Given the description of an element on the screen output the (x, y) to click on. 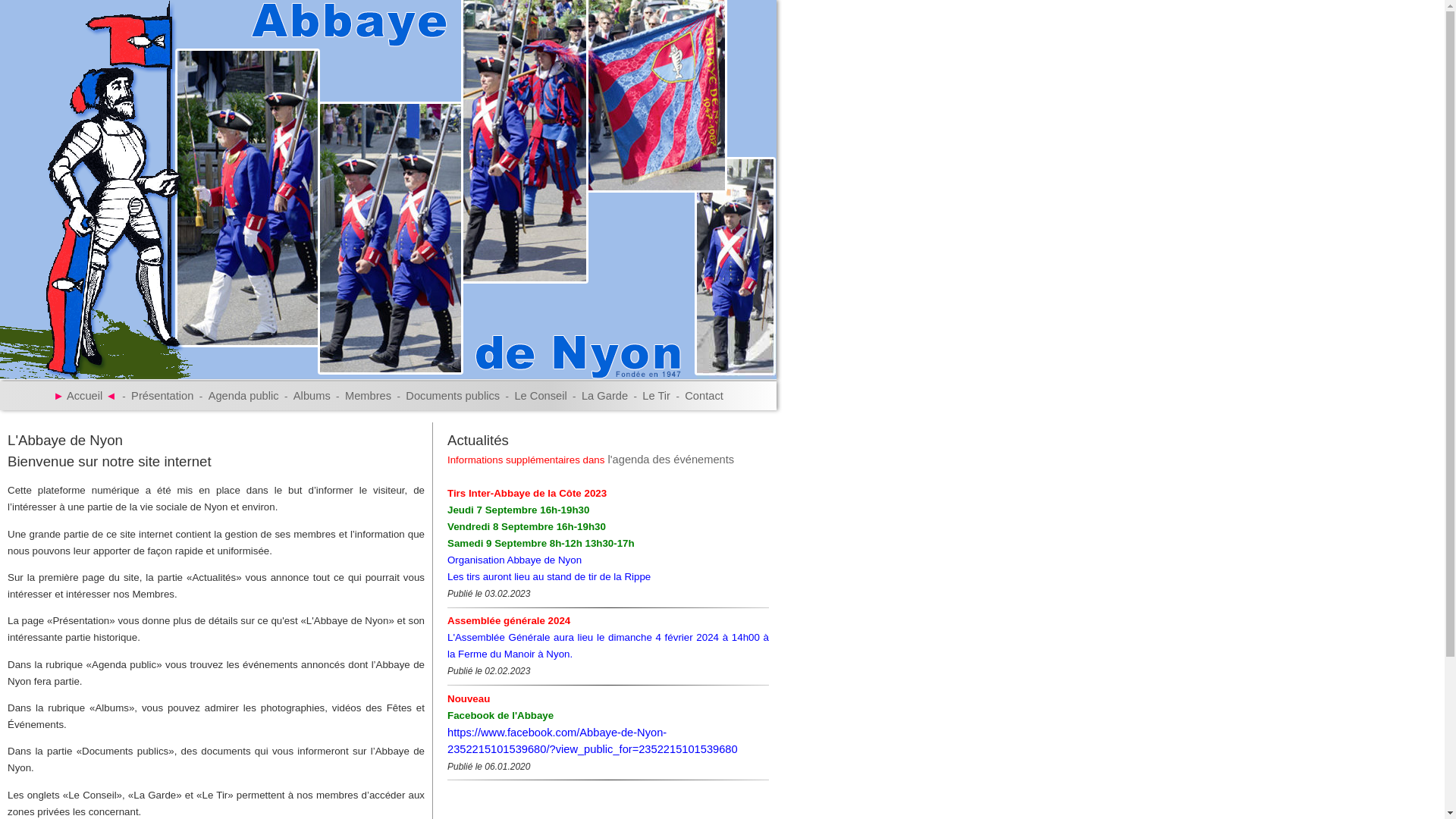
Agenda public Element type: text (243, 395)
Albums Element type: text (311, 395)
Le Conseil Element type: text (540, 395)
Contact Element type: text (703, 395)
La Garde Element type: text (604, 395)
Documents publics Element type: text (452, 395)
Le Tir Element type: text (656, 395)
Membres Element type: text (368, 395)
